Given the description of an element on the screen output the (x, y) to click on. 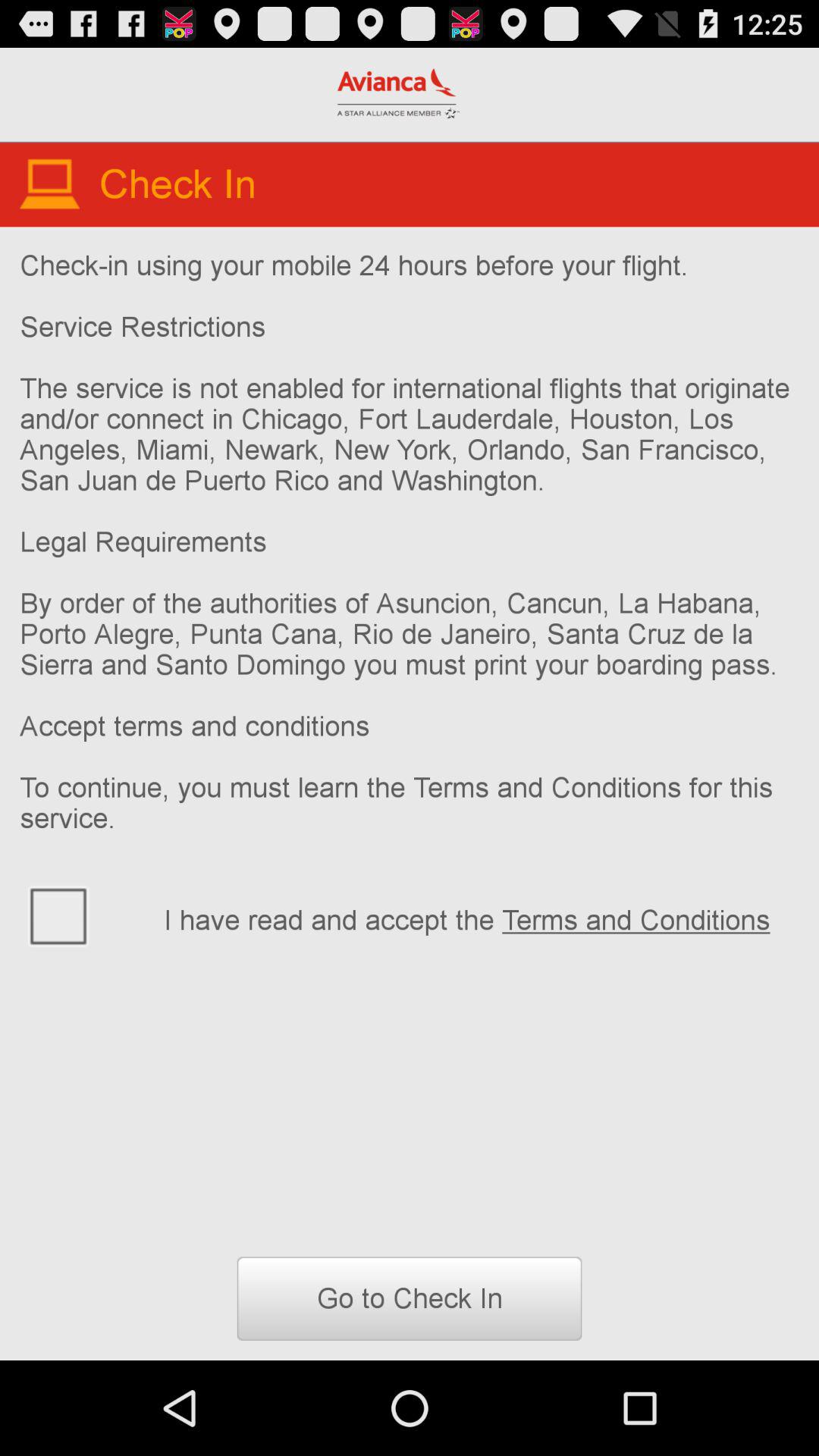
to choose terms and condintion (81, 914)
